Given the description of an element on the screen output the (x, y) to click on. 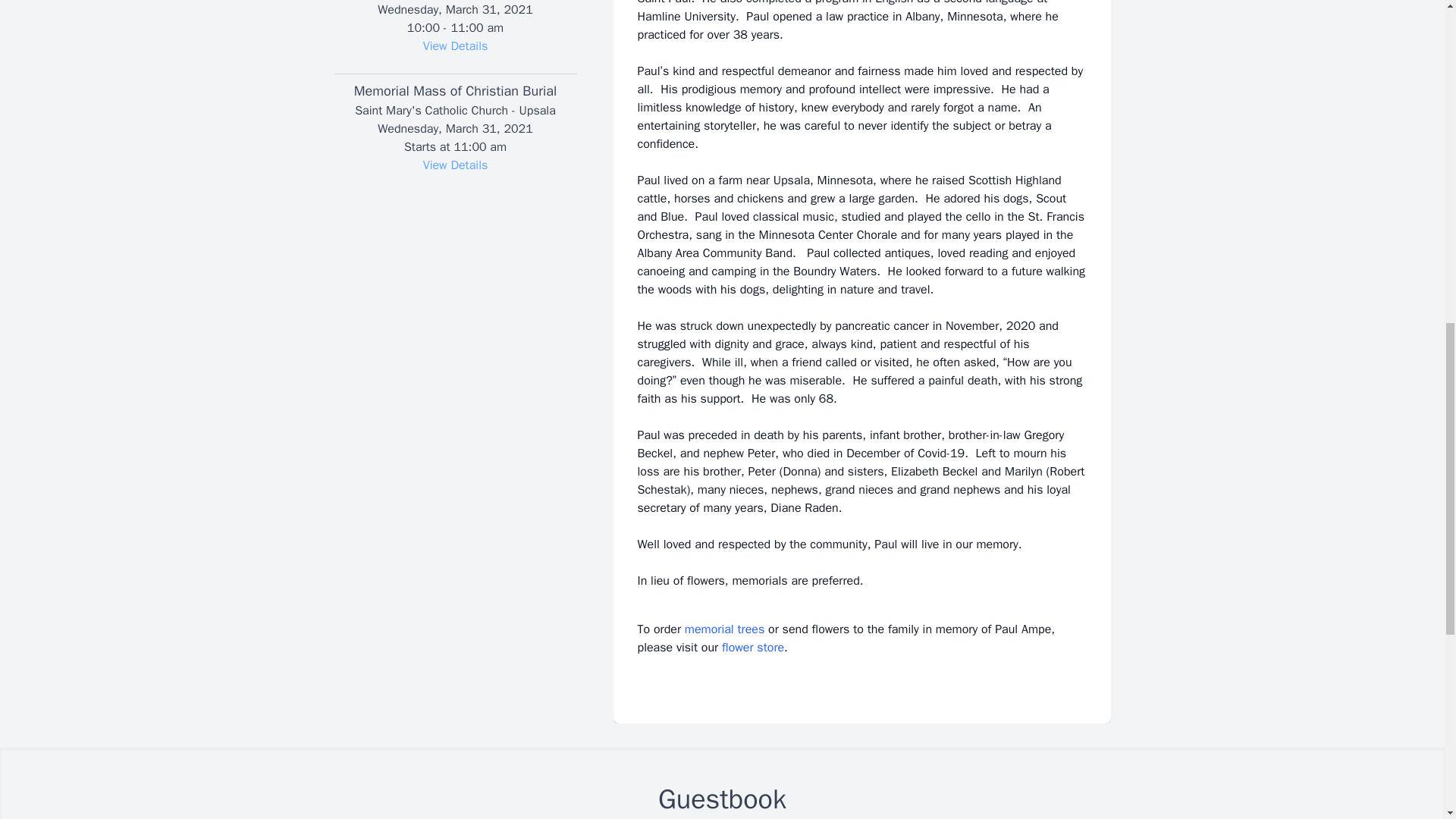
flower store (753, 647)
View Details (455, 46)
View Details (455, 165)
memorial trees (724, 629)
